Given the description of an element on the screen output the (x, y) to click on. 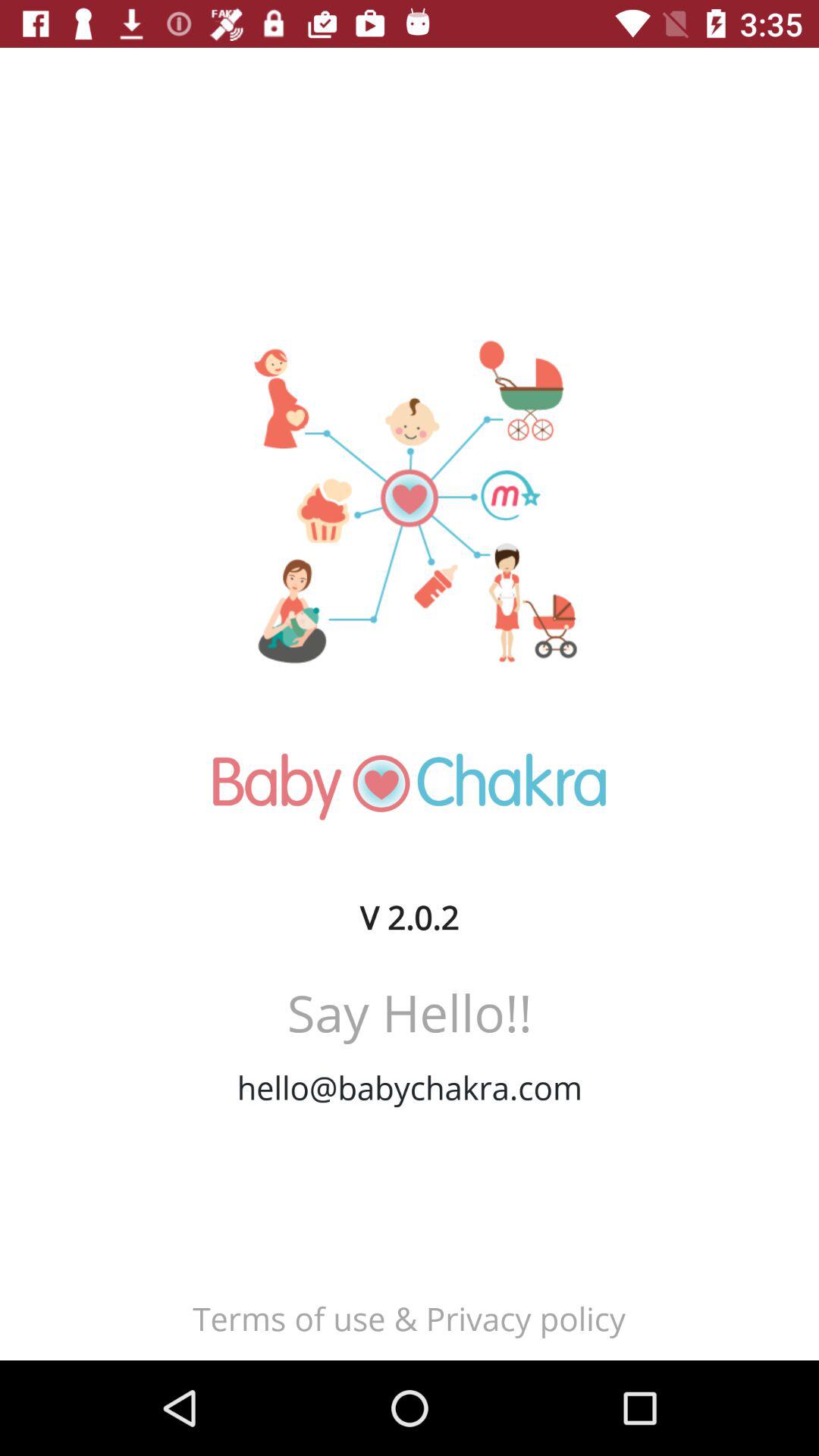
launch the icon below say hello!! icon (409, 1087)
